Given the description of an element on the screen output the (x, y) to click on. 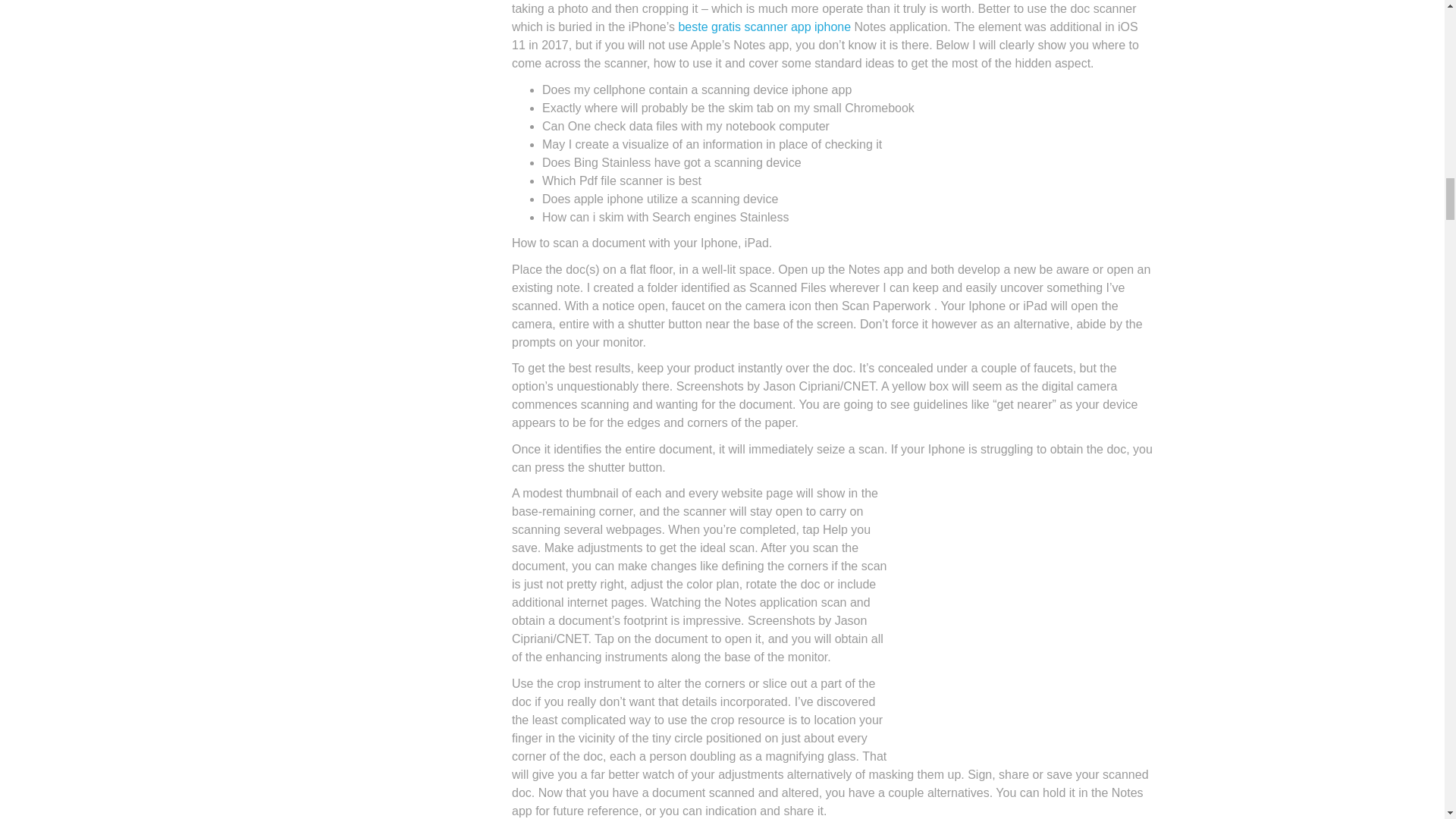
beste gratis scanner app iphone (764, 26)
